Given the description of an element on the screen output the (x, y) to click on. 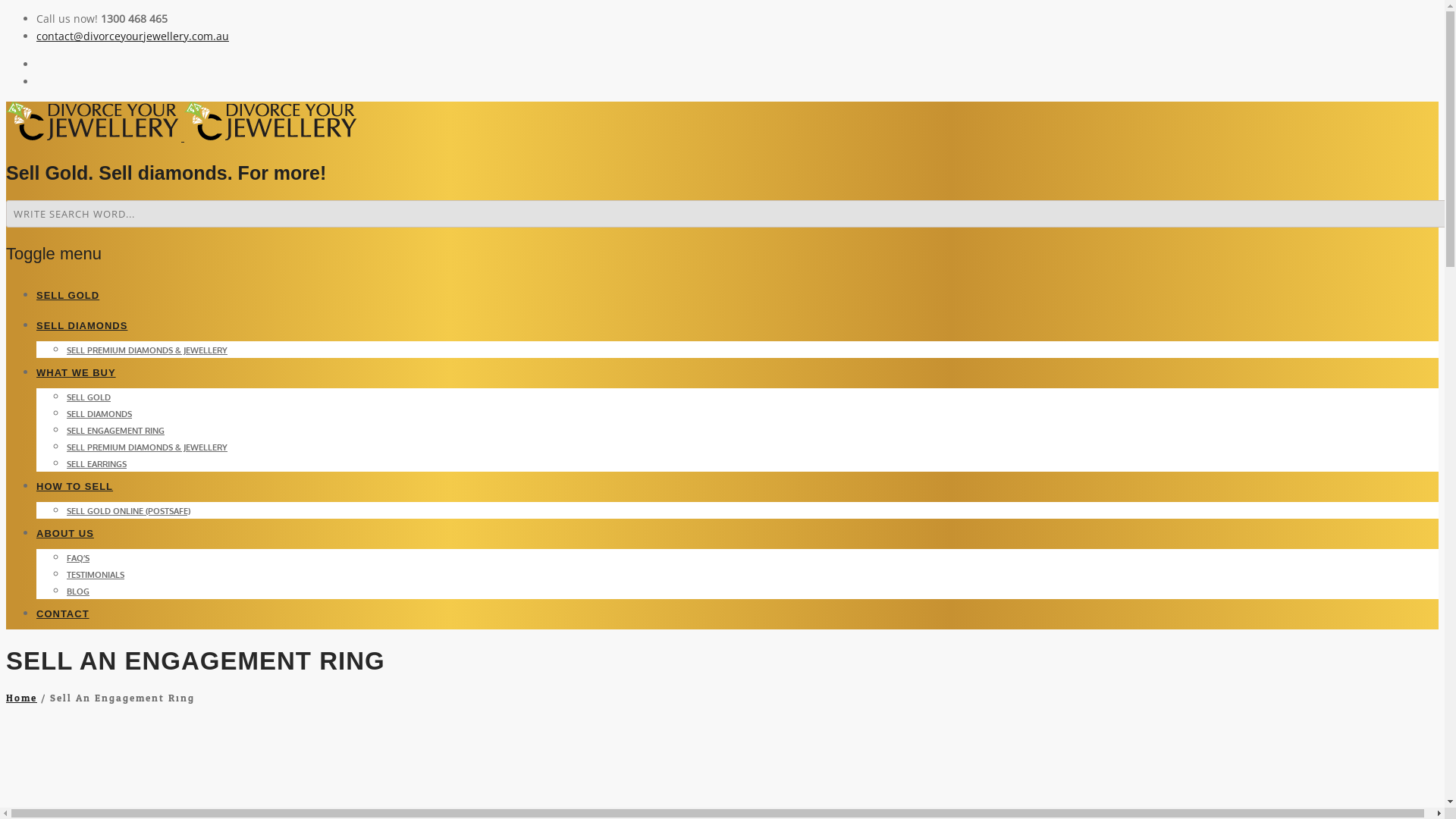
ABOUT US Element type: text (65, 533)
Skip to content Element type: text (5, 279)
SELL GOLD Element type: text (67, 295)
SELL PREMIUM DIAMONDS & JEWELLERY Element type: text (146, 349)
SELL PREMIUM DIAMONDS & JEWELLERY Element type: text (146, 446)
BLOG Element type: text (77, 590)
HOW TO SELL Element type: text (74, 486)
SELL EARRINGS Element type: text (96, 463)
SELL ENGAGEMENT RING Element type: text (115, 429)
CONTACT Element type: text (62, 613)
WHAT WE BUY Element type: text (76, 372)
Home Element type: text (21, 698)
contact@divorceyourjewellery.com.au Element type: text (132, 35)
TESTIMONIALS Element type: text (95, 573)
SELL DIAMONDS Element type: text (98, 412)
SELL DIAMONDS Element type: text (81, 325)
SELL GOLD Element type: text (88, 396)
SELL GOLD ONLINE (POSTSAFE) Element type: text (128, 510)
Divorce your Jewellery Element type: hover (182, 136)
